Given the description of an element on the screen output the (x, y) to click on. 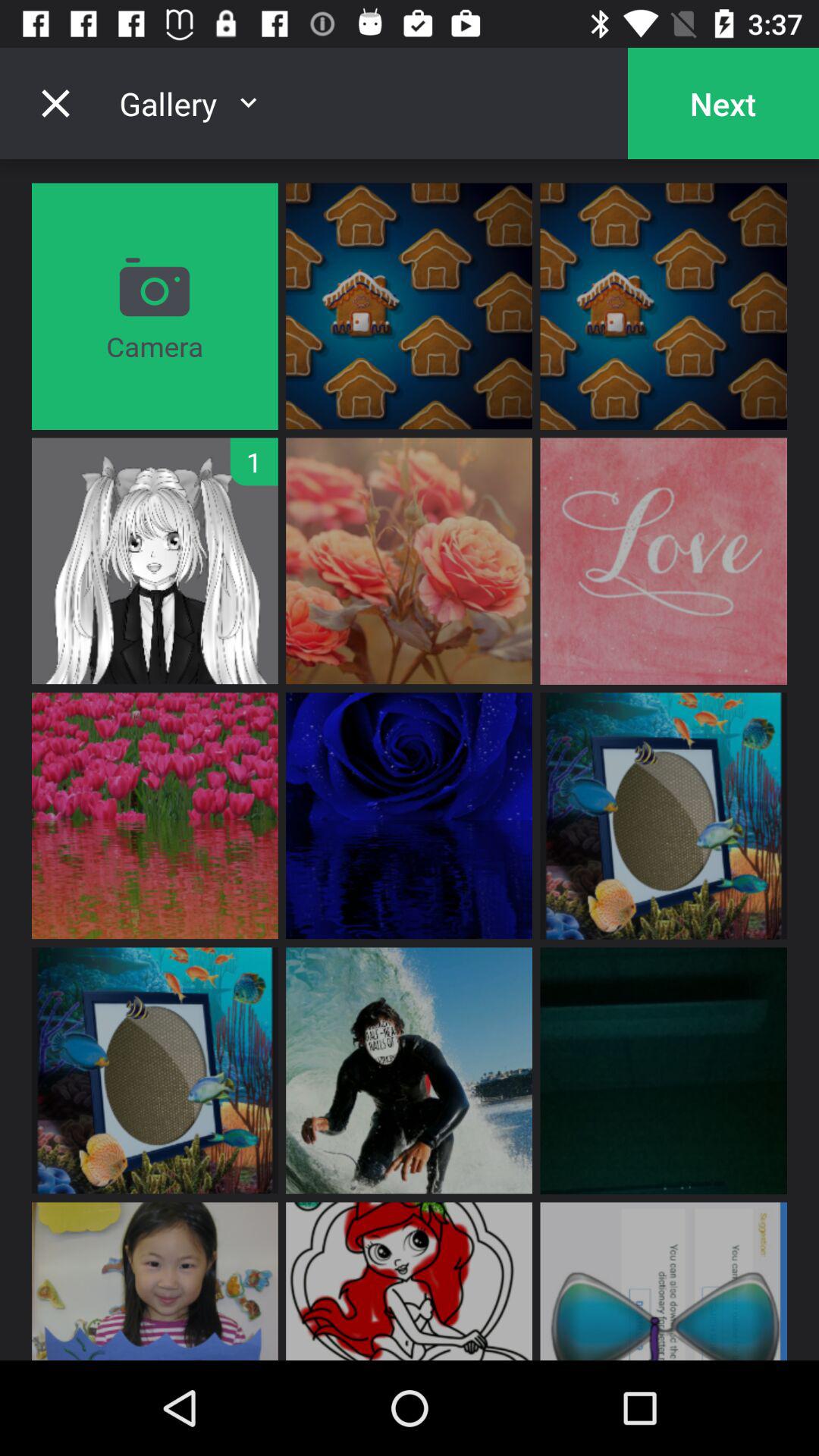
close (55, 103)
